Given the description of an element on the screen output the (x, y) to click on. 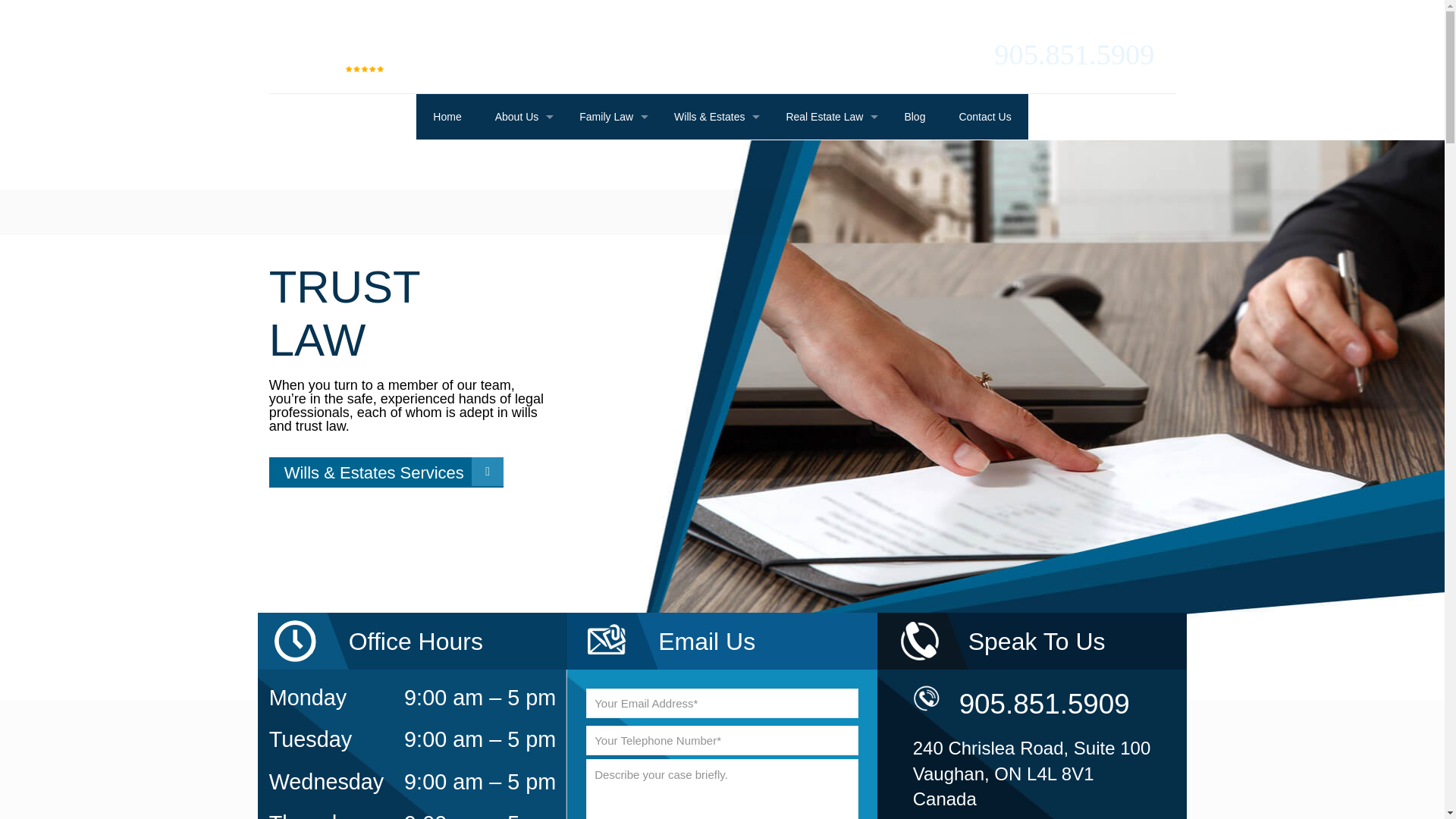
Home (446, 116)
Family Law (610, 116)
905.851.5909 (1074, 54)
Blog (914, 116)
Real Estate Law (827, 116)
Contact Us (984, 116)
About Us (521, 116)
